Given the description of an element on the screen output the (x, y) to click on. 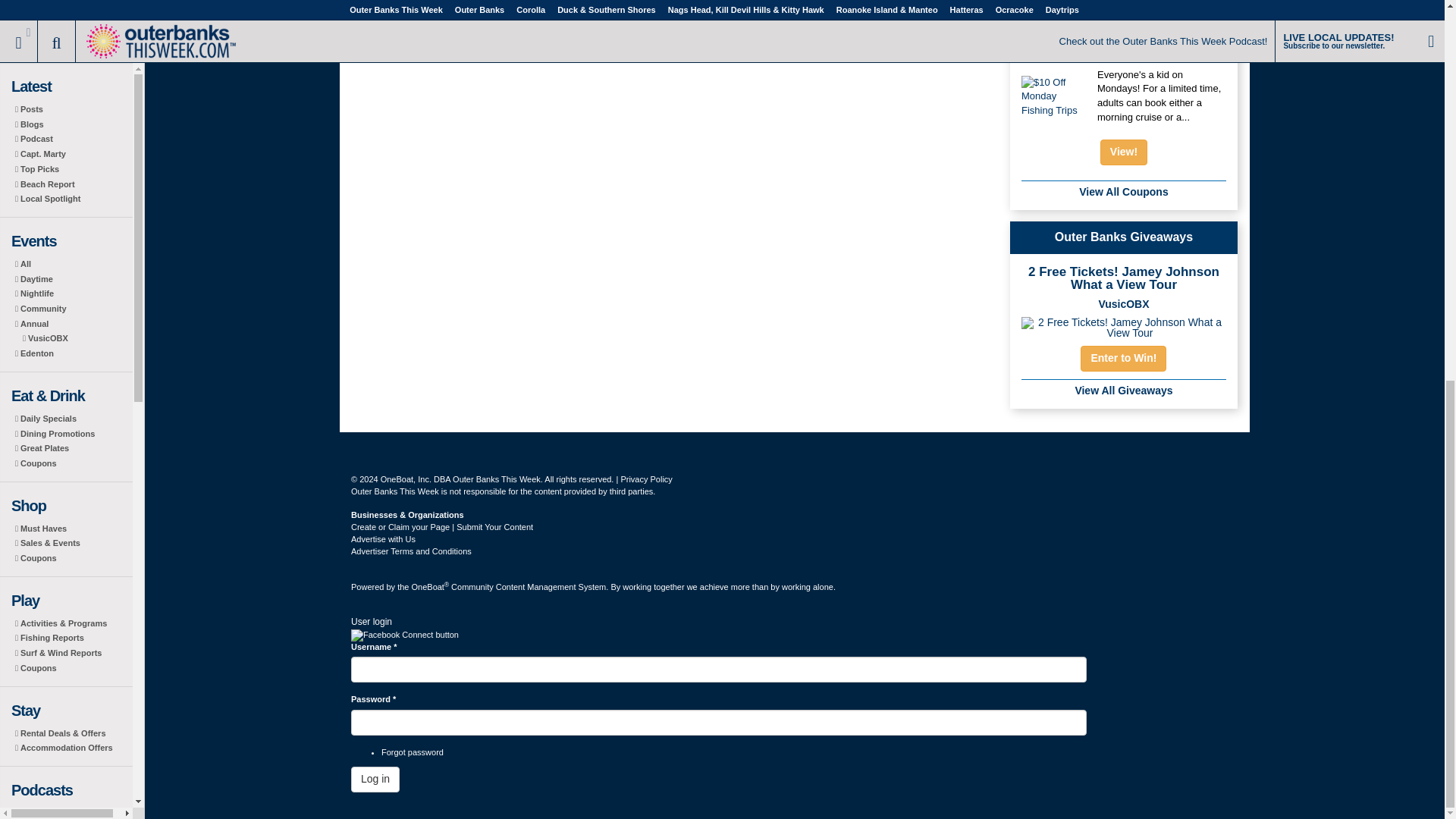
2 Free Tickets! Jamey Johnson What a View Tour (1122, 304)
View All Coupons (1122, 191)
2 Free Tickets! Jamey Johnson What a View Tour (1123, 322)
2 Free Tickets! Jamey Johnson What a View Tour (1123, 277)
View All Giveaways (1123, 390)
OneBoat (429, 586)
2 Free Tickets! Jamey Johnson What a View Tour (1123, 323)
